Given the description of an element on the screen output the (x, y) to click on. 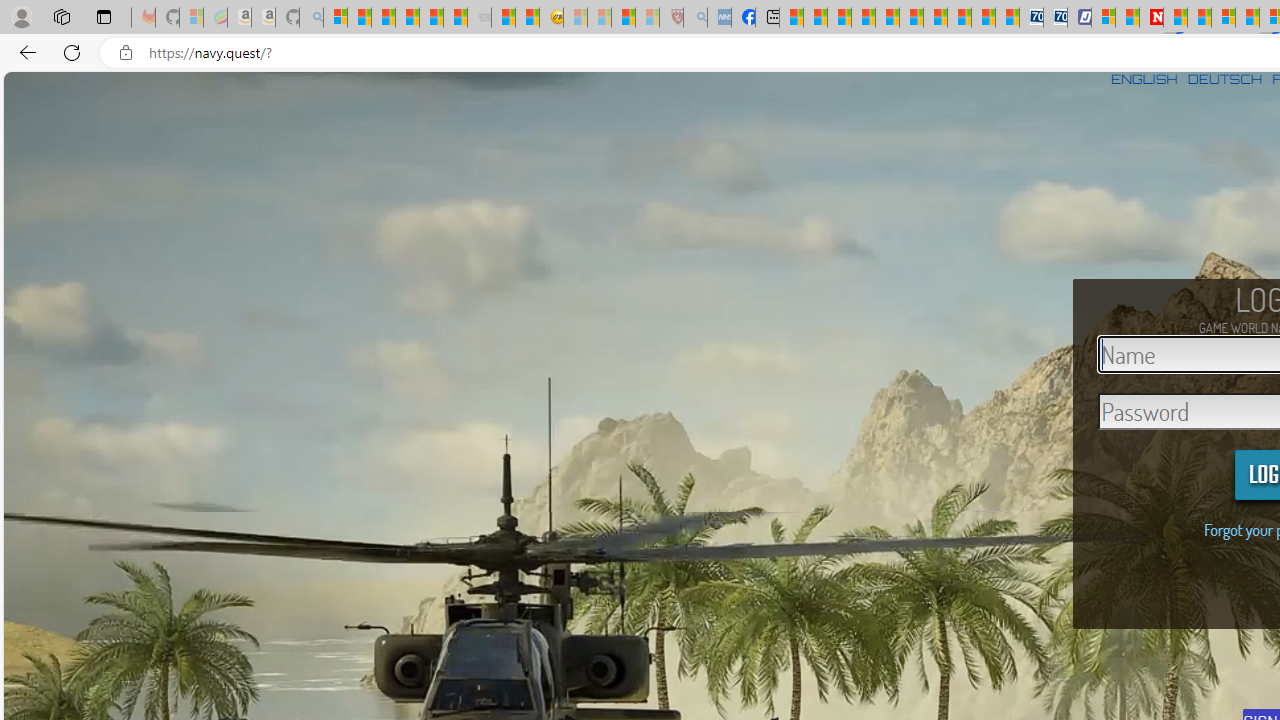
DEUTSCH (1224, 79)
